Given the description of an element on the screen output the (x, y) to click on. 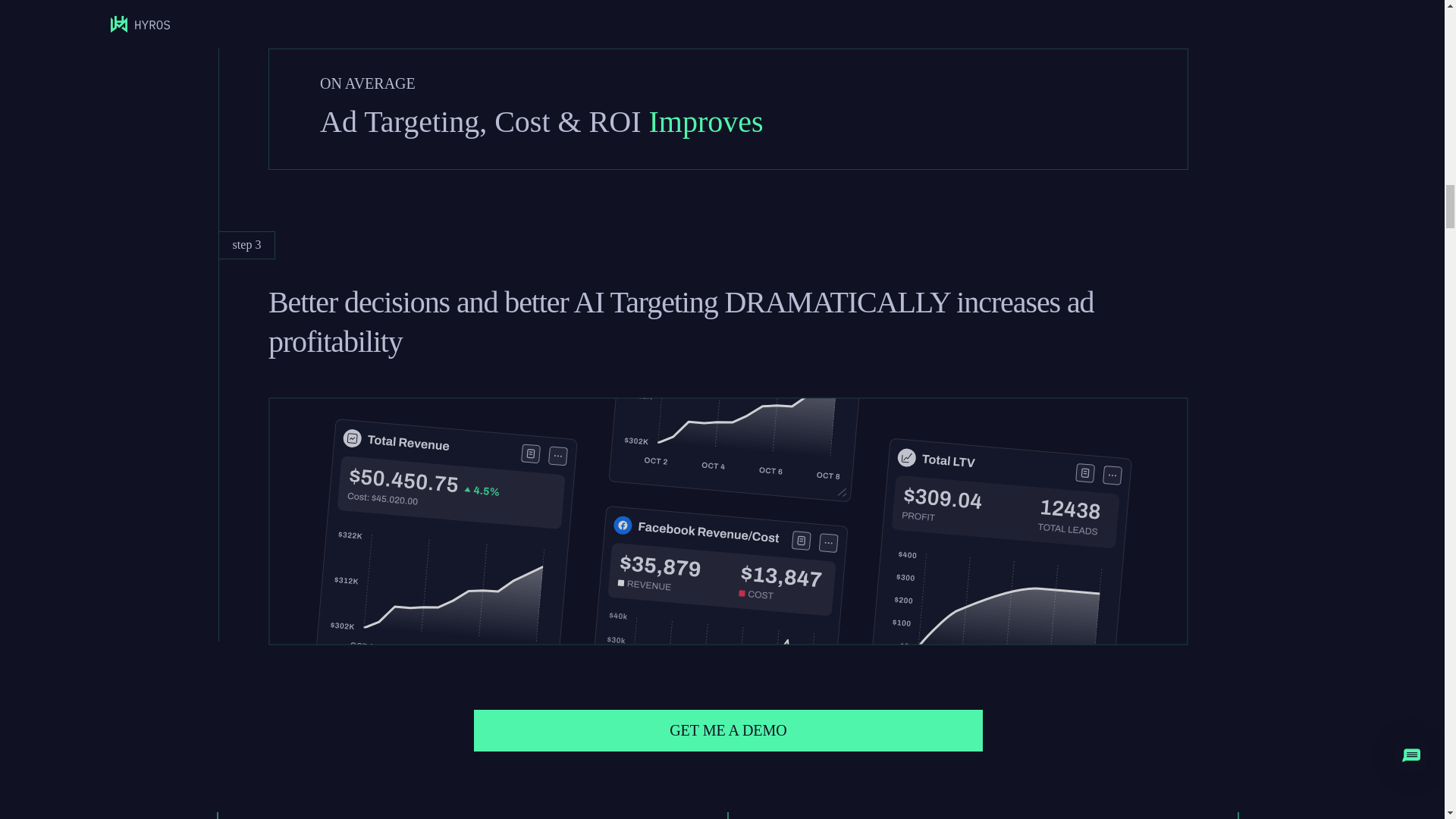
GET ME A DEMO (729, 730)
